Given the description of an element on the screen output the (x, y) to click on. 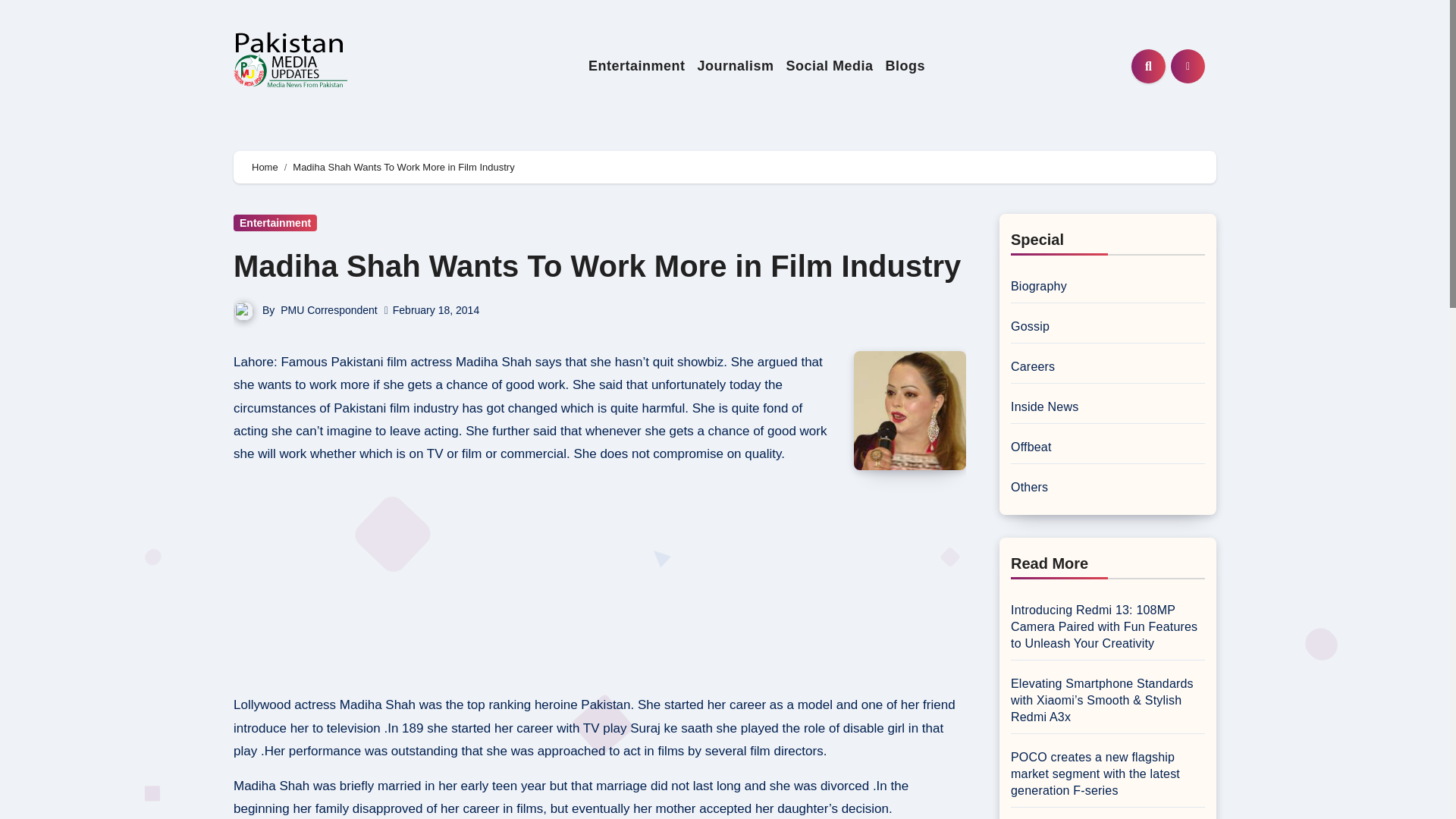
Madiha Shah Wants To Work More in Film Industry (596, 265)
Blogs (905, 66)
February 18, 2014 (436, 309)
Blogs (905, 66)
Social Media (828, 66)
Journalism (734, 66)
PMU Correspondent (329, 309)
Journalism (734, 66)
Entertainment (636, 66)
